Given the description of an element on the screen output the (x, y) to click on. 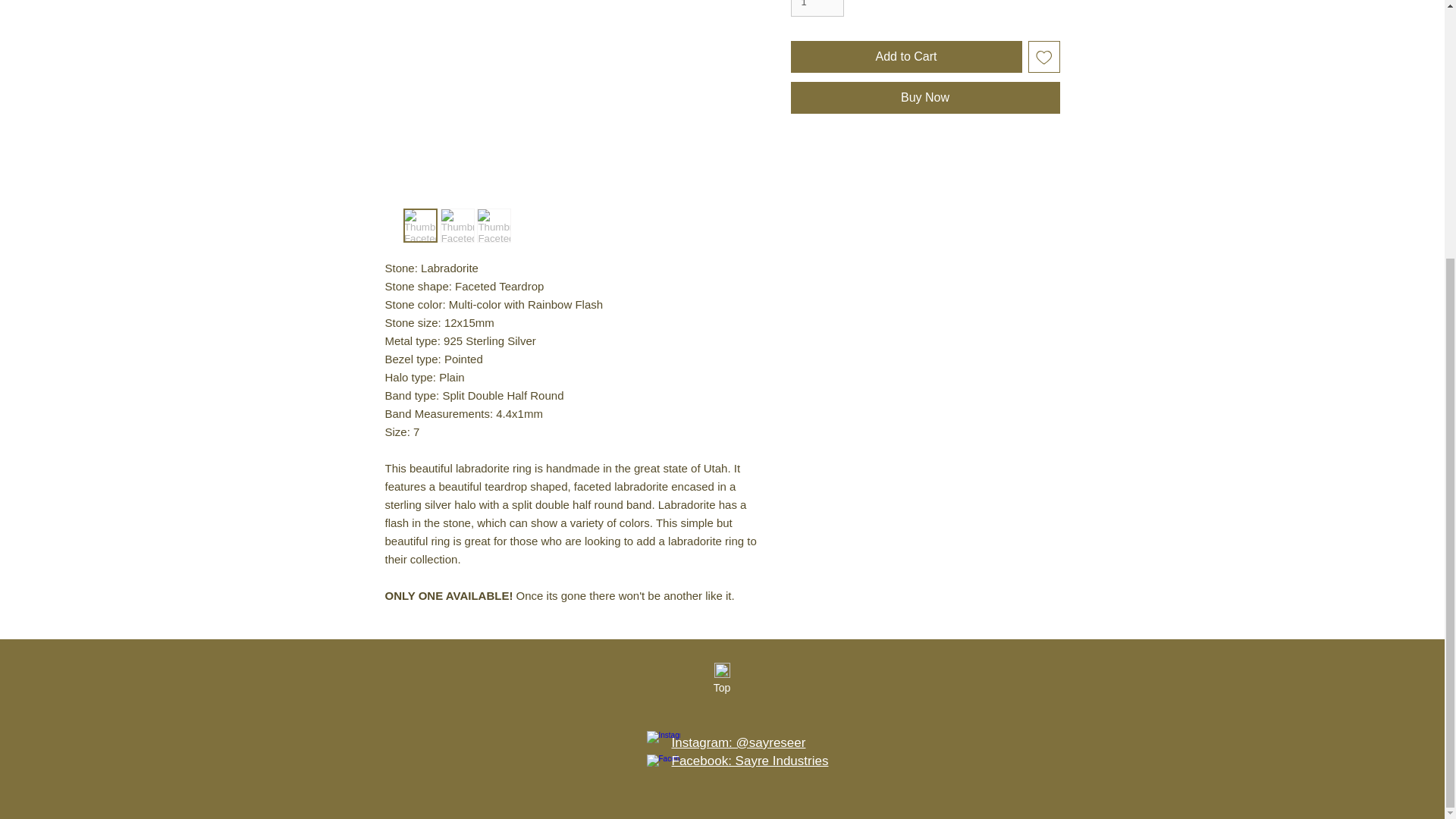
Top (721, 688)
Facebook: Sayre Industries (749, 760)
Add to Cart (906, 56)
1 (817, 8)
Buy Now (924, 97)
Back to top (722, 670)
